Given the description of an element on the screen output the (x, y) to click on. 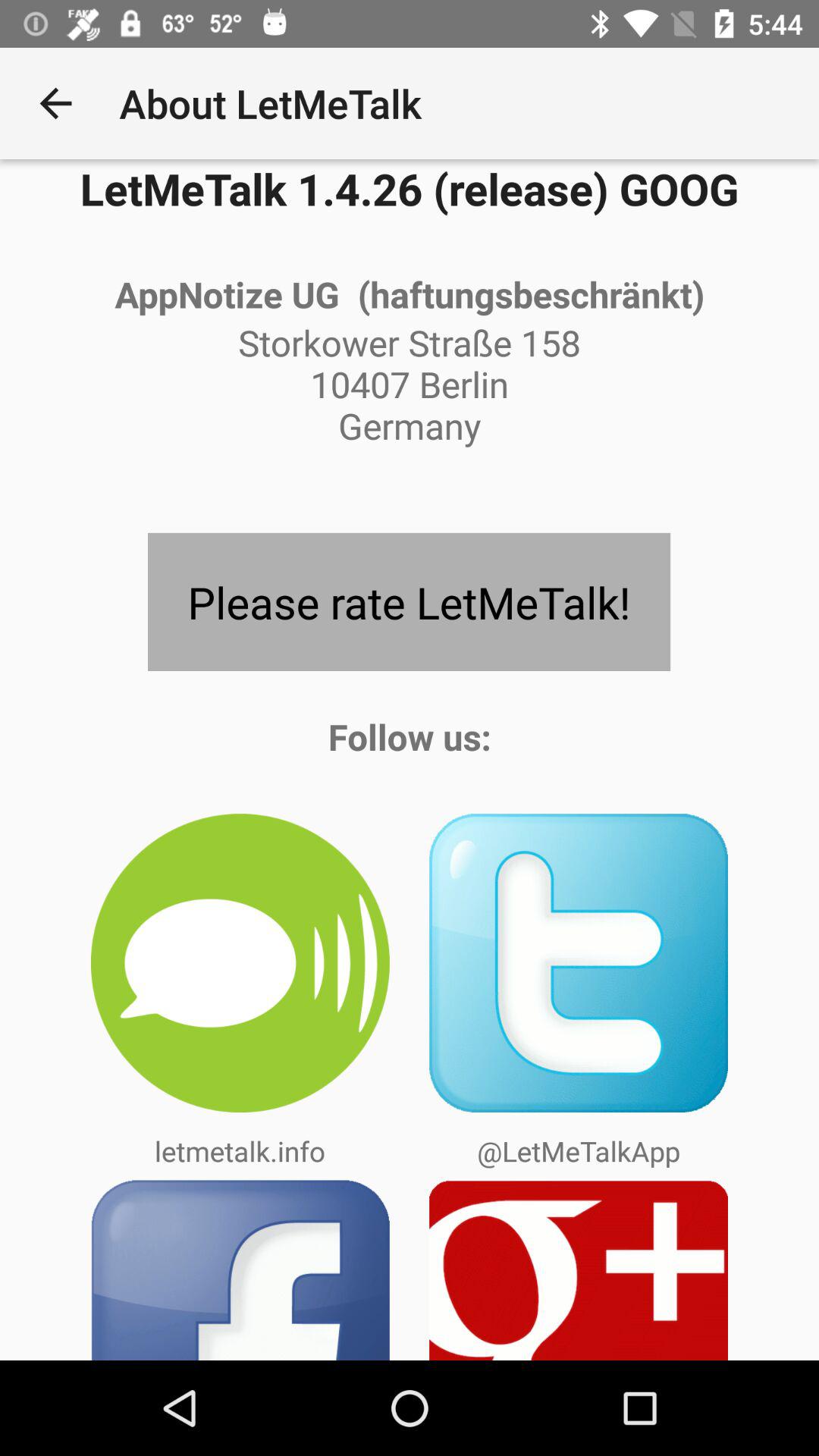
turn on the app below the letmetalk.info icon (240, 1269)
